Given the description of an element on the screen output the (x, y) to click on. 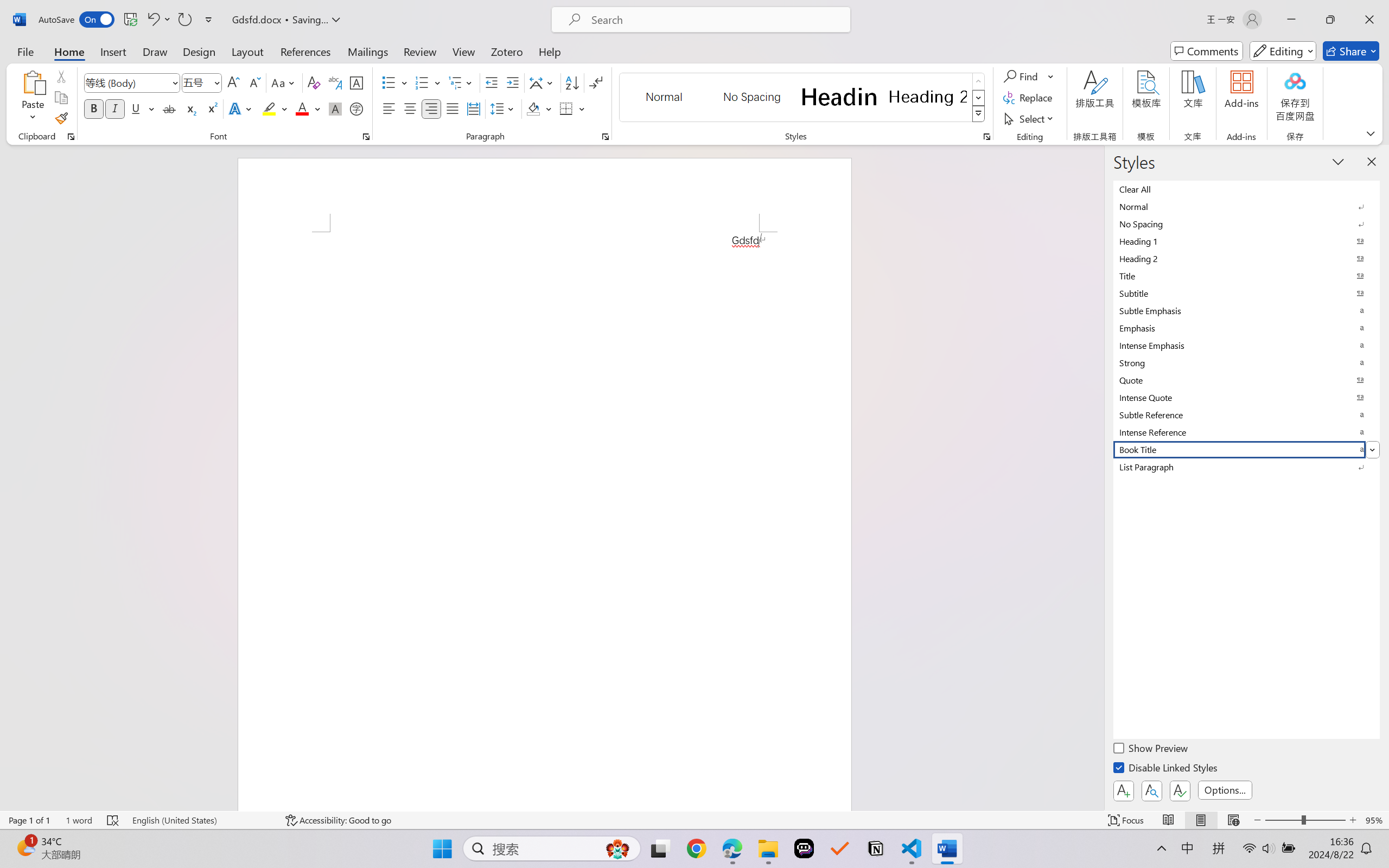
Zoom 95% (1374, 819)
Font Color (308, 108)
Sort... (571, 82)
Class: NetUIScrollBar (1097, 477)
Text Highlight Color Yellow (269, 108)
Shading RGB(0, 0, 0) (533, 108)
